Given the description of an element on the screen output the (x, y) to click on. 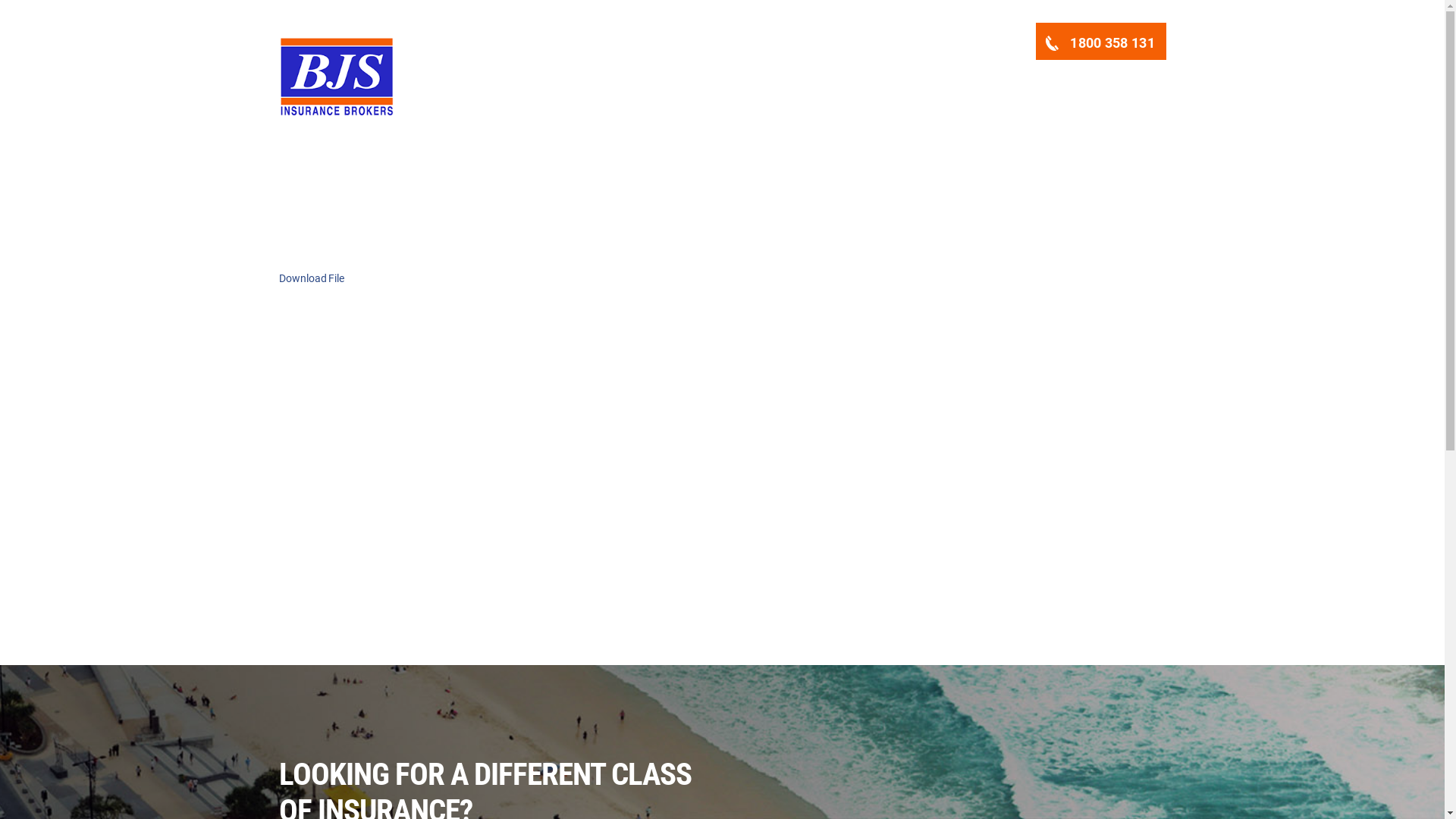
Pay an Invoice Element type: text (923, 88)
Home Element type: text (652, 88)
1800 358 131 Element type: text (1100, 40)
Obtain a Quote Element type: text (728, 88)
FAQ Element type: text (1086, 88)
Broker Portal Element type: text (1018, 88)
Download File Element type: text (311, 278)
Make a Claim Element type: text (827, 88)
About Element type: text (1136, 88)
